Given the description of an element on the screen output the (x, y) to click on. 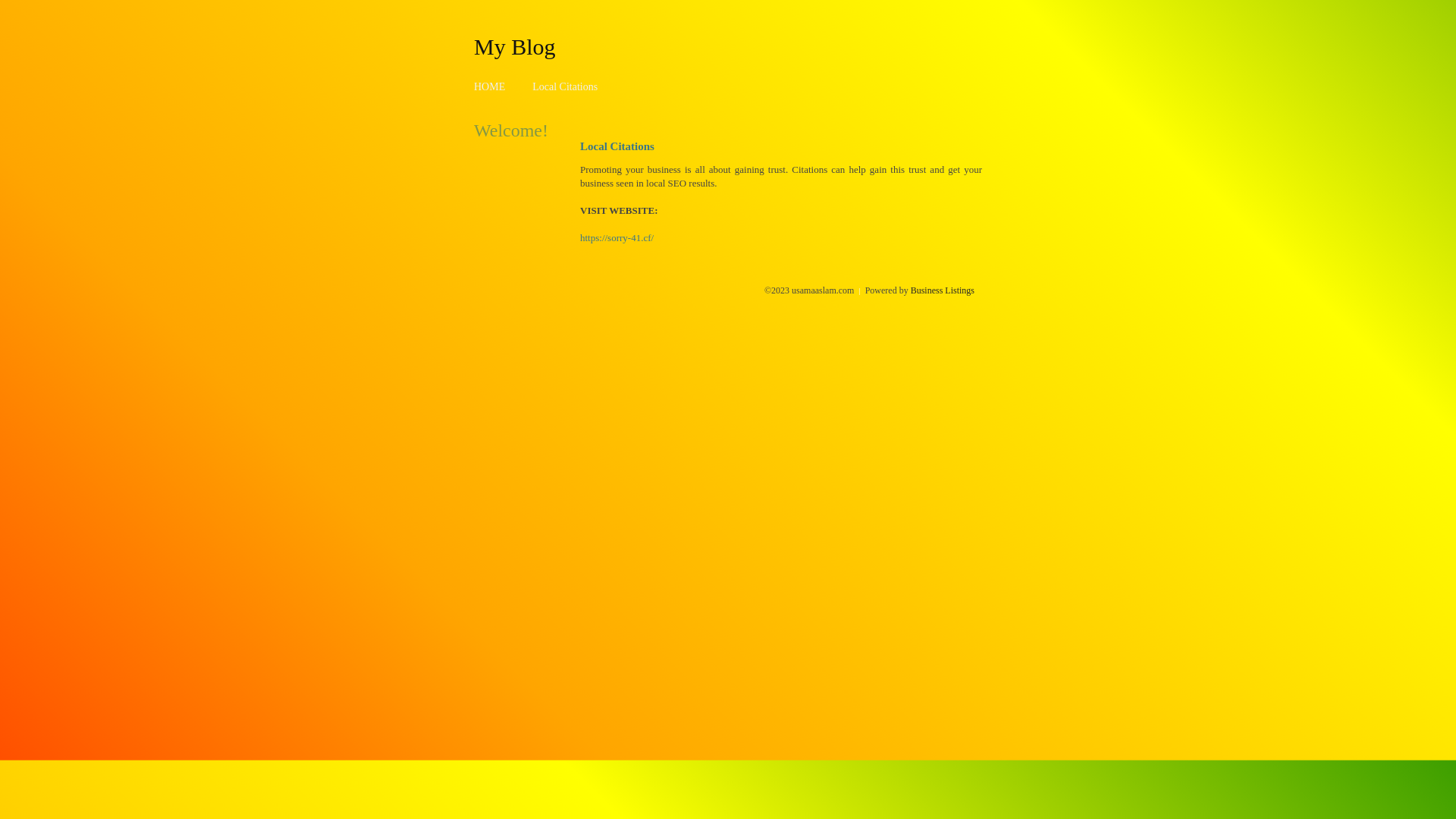
Business Listings Element type: text (942, 290)
https://sorry-41.cf/ Element type: text (616, 237)
My Blog Element type: text (514, 46)
Local Citations Element type: text (564, 86)
HOME Element type: text (489, 86)
